Given the description of an element on the screen output the (x, y) to click on. 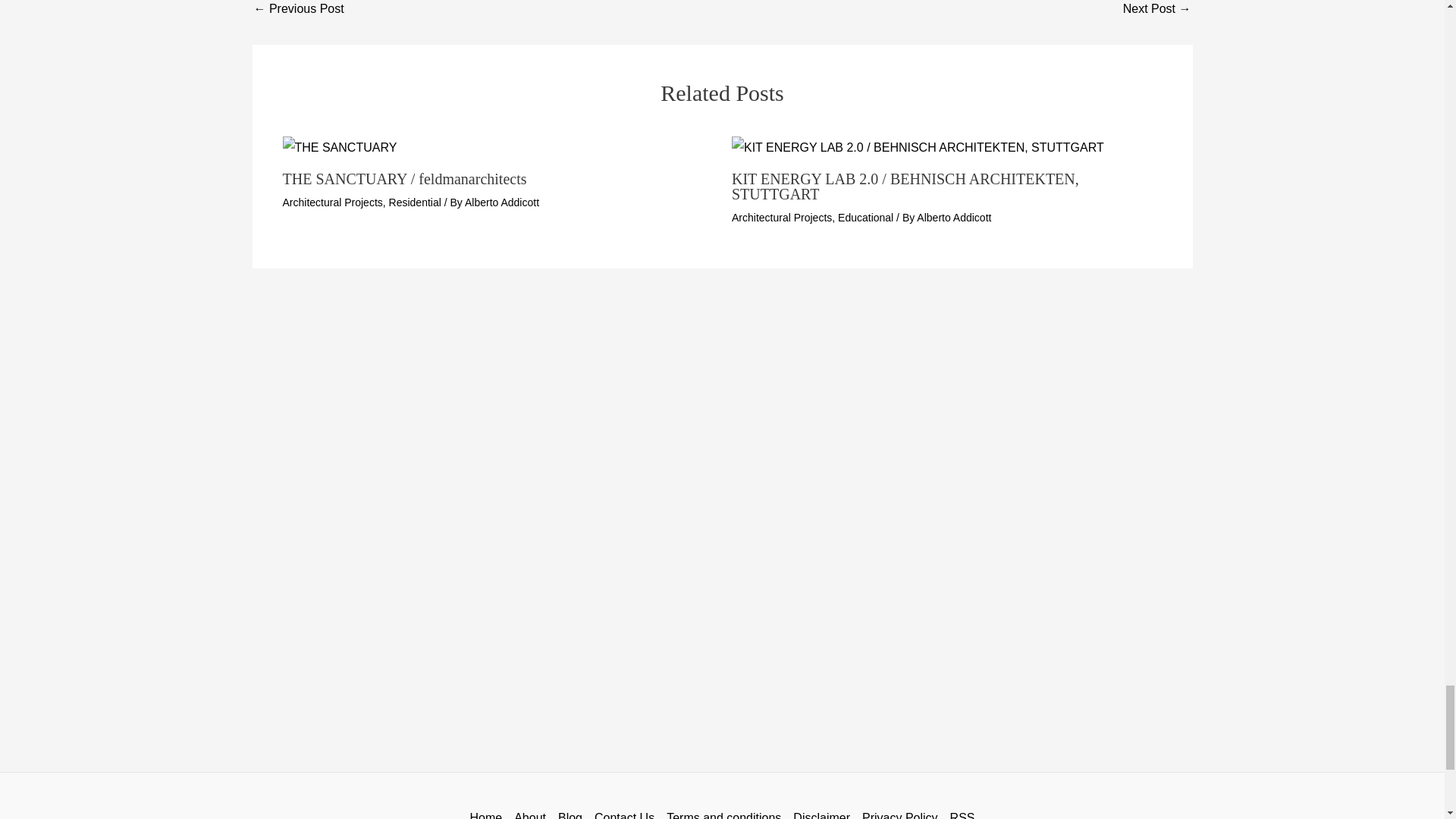
View all posts by Alberto Addicott (954, 217)
View all posts by Alberto Addicott (501, 202)
